Given the description of an element on the screen output the (x, y) to click on. 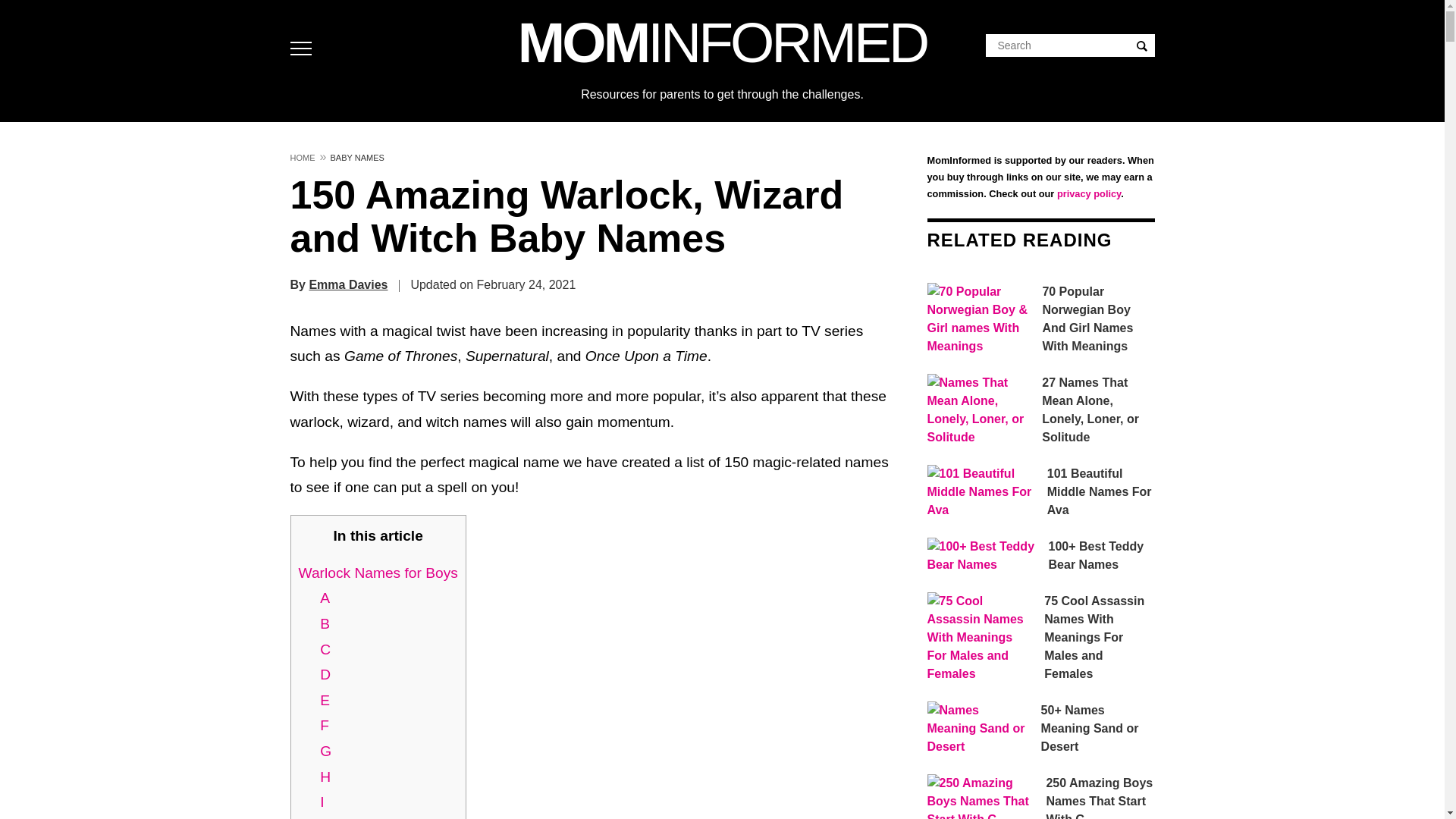
HOME (301, 152)
Menu (303, 48)
Baby Names (357, 152)
F (324, 725)
Emma Davies (347, 284)
MOMINFORMED (722, 42)
B (325, 623)
I (321, 801)
A (325, 597)
E (325, 700)
Warlock Names for Boys (378, 572)
